Given the description of an element on the screen output the (x, y) to click on. 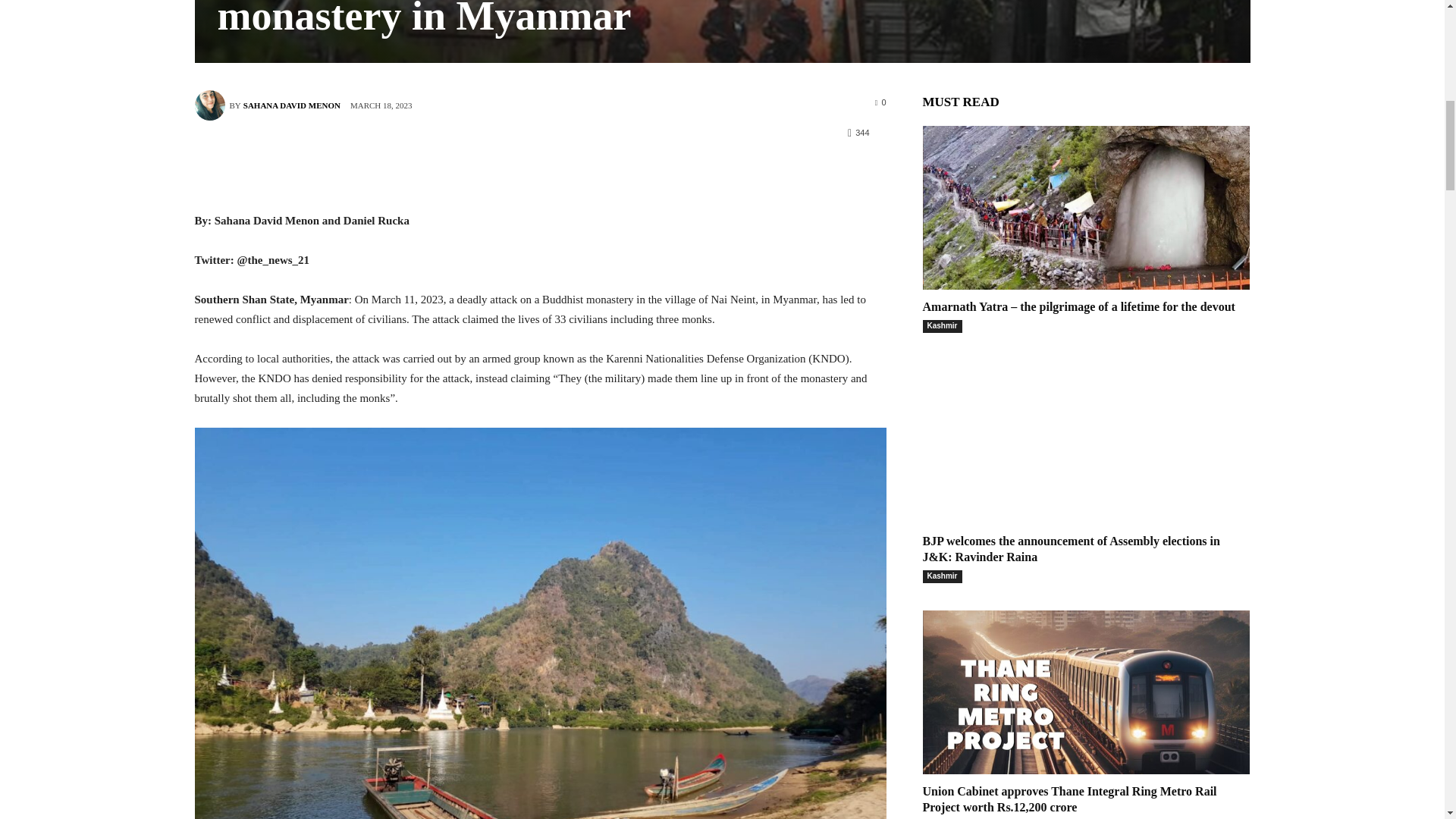
0 (880, 101)
Sahana David Menon (210, 105)
SAHANA DAVID MENON (291, 105)
